Given the description of an element on the screen output the (x, y) to click on. 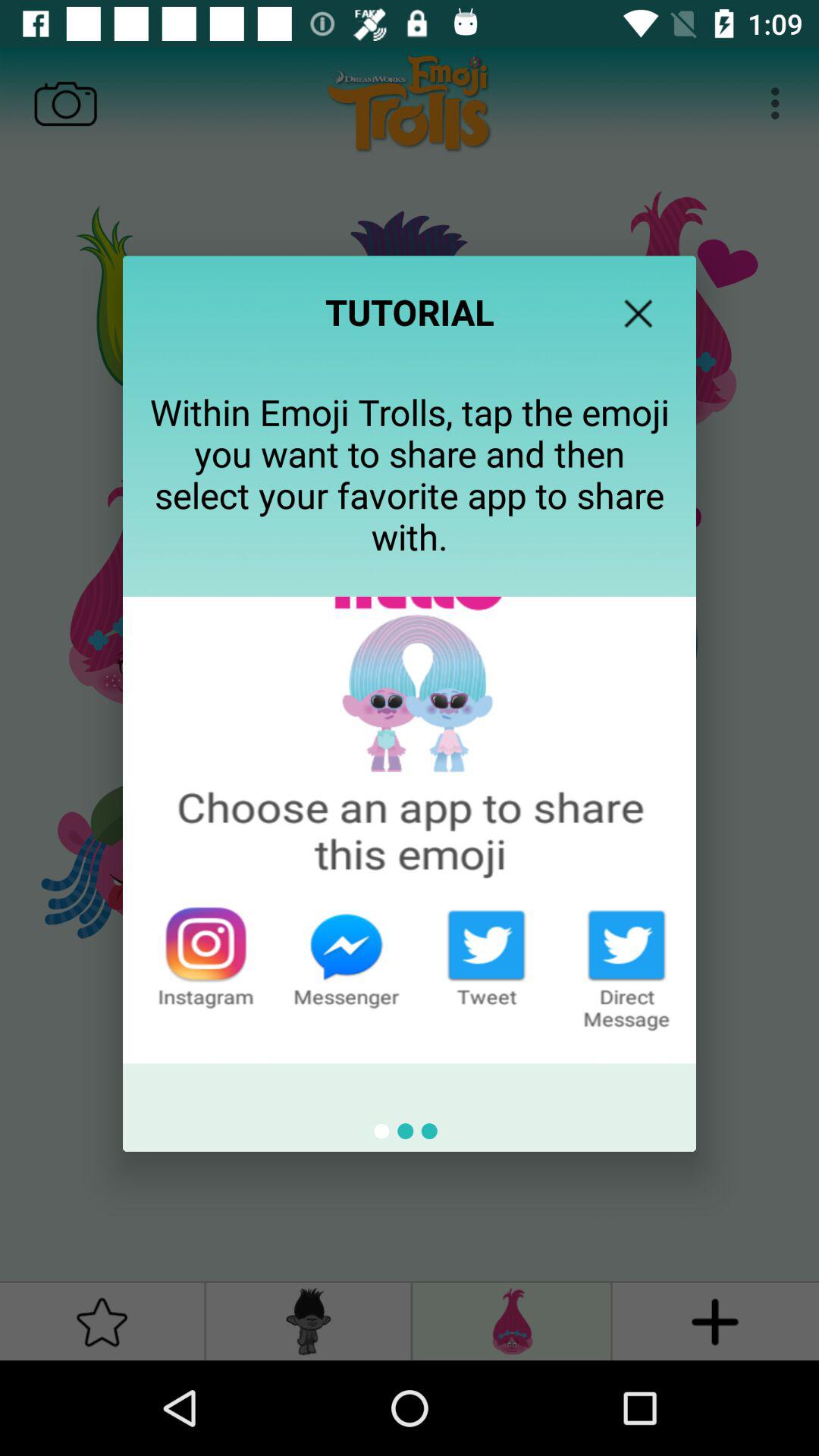
close popup (638, 313)
